Given the description of an element on the screen output the (x, y) to click on. 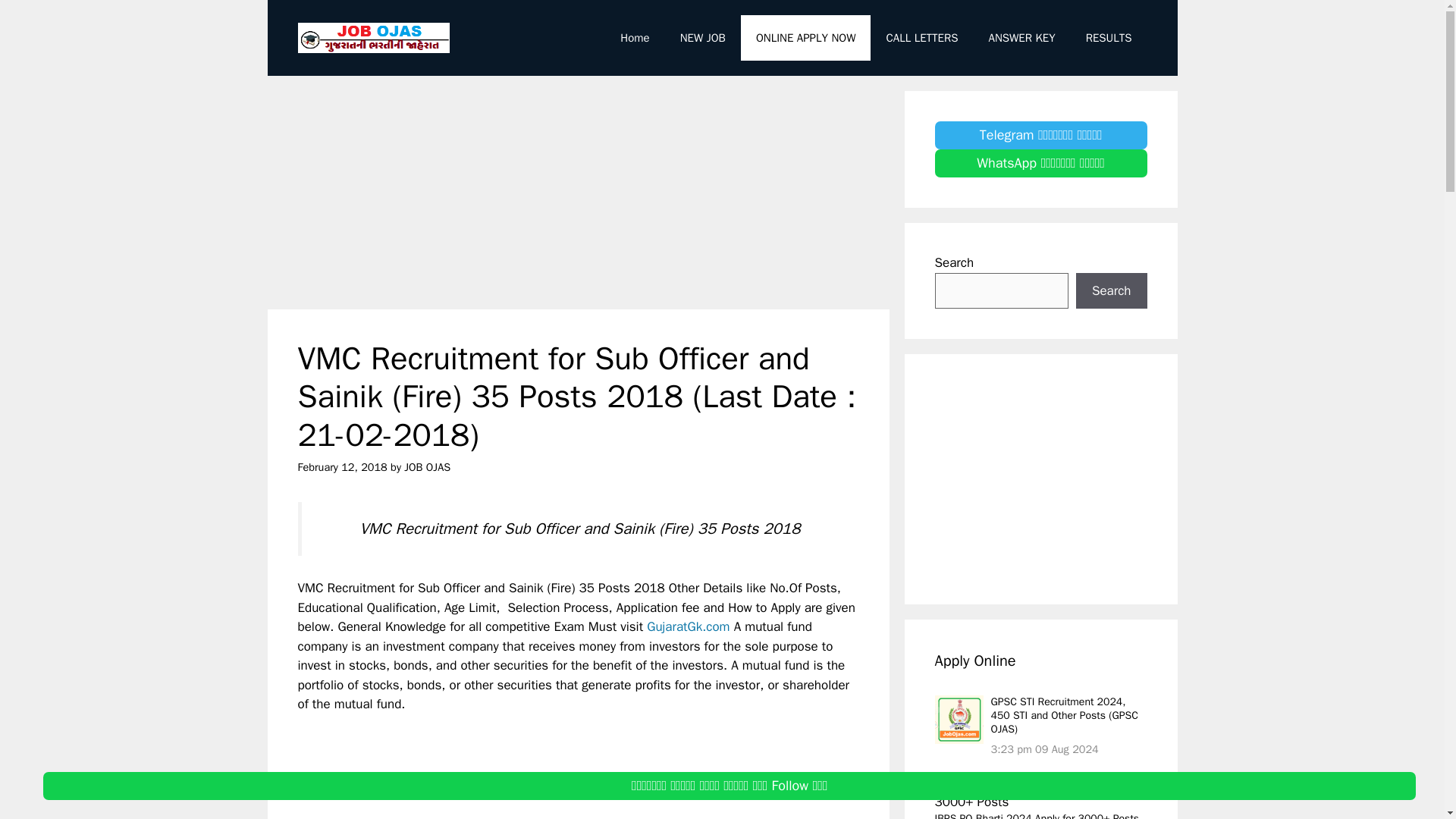
View all posts by JOB OJAS (426, 467)
Search (1111, 290)
CALL LETTERS (921, 37)
RESULTS (1108, 37)
NEW JOB (703, 37)
GujaratGk.com (687, 626)
ONLINE APPLY NOW (805, 37)
ANSWER KEY (1022, 37)
Home (634, 37)
JOB OJAS (426, 467)
